Given the description of an element on the screen output the (x, y) to click on. 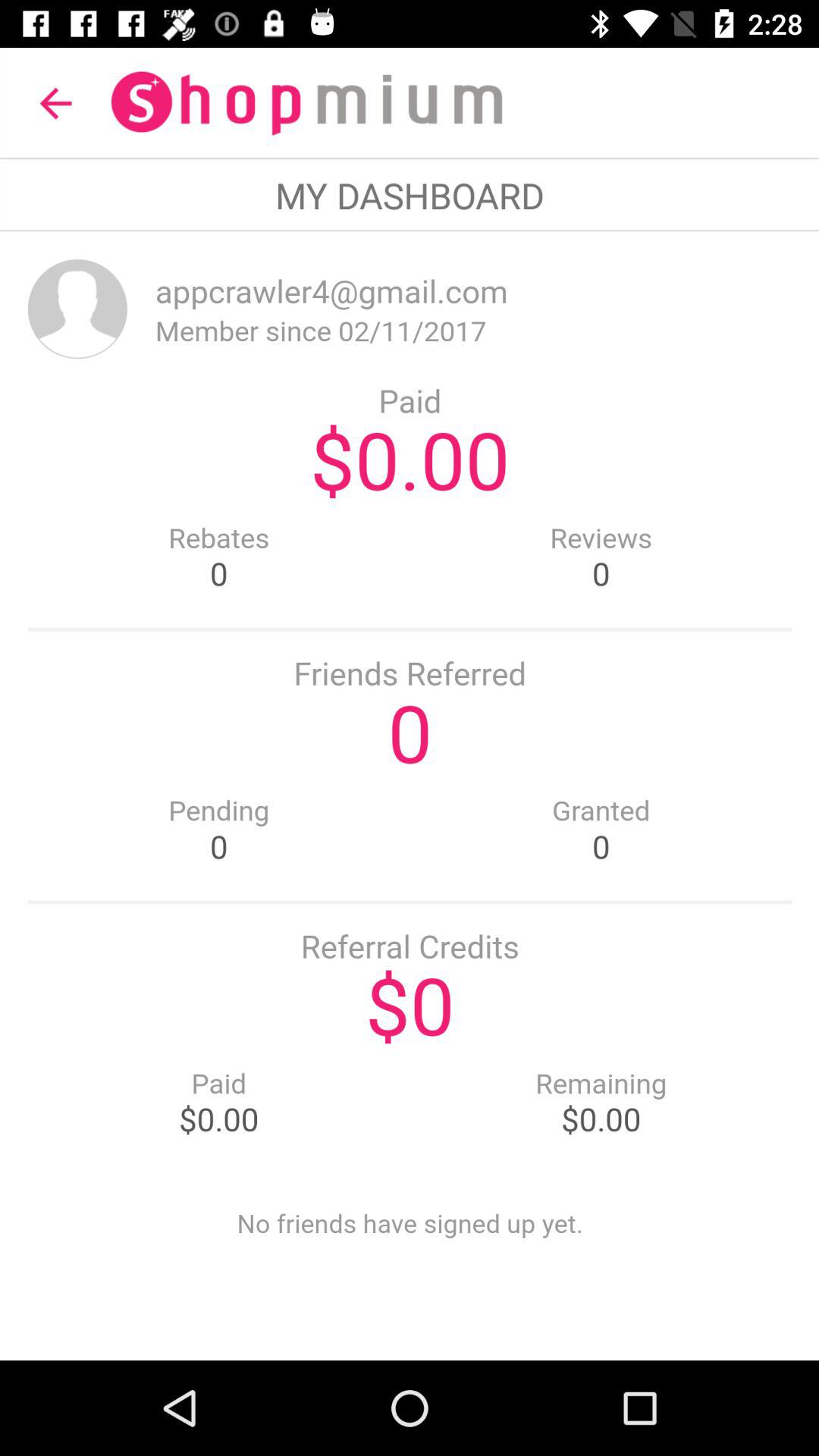
go back (409, 795)
